Given the description of an element on the screen output the (x, y) to click on. 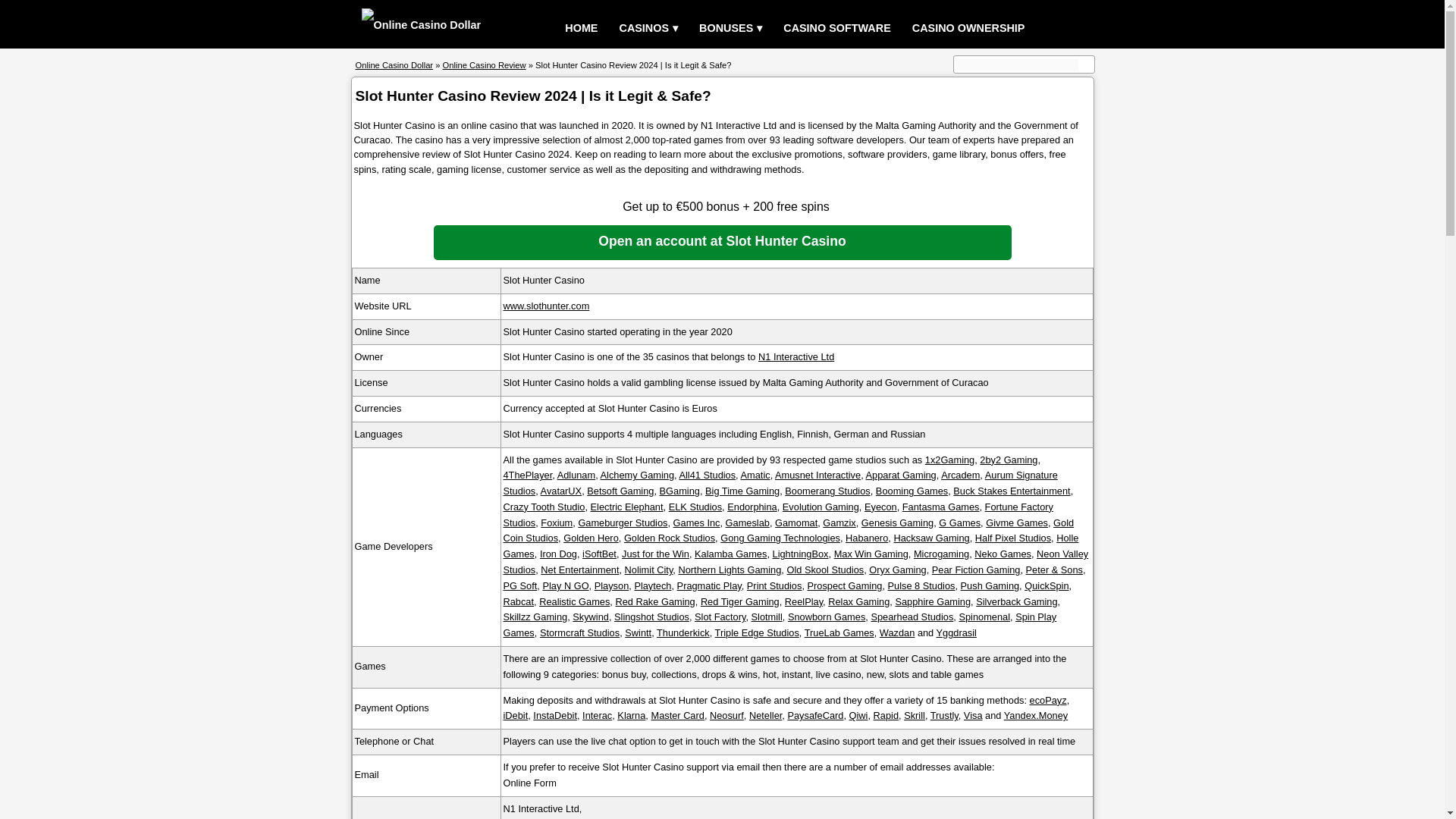
www.slothunter.com (546, 306)
CASINO SOFTWARE (837, 28)
AvatarUX (561, 490)
Electric Elephant (627, 506)
Open an account at Slot Hunter Casino (722, 242)
4ThePlayer (528, 474)
ELK Studios (695, 506)
CASINOS (648, 28)
N1 Interactive Ltd (796, 356)
Crazy Tooth Studio (544, 506)
